Given the description of an element on the screen output the (x, y) to click on. 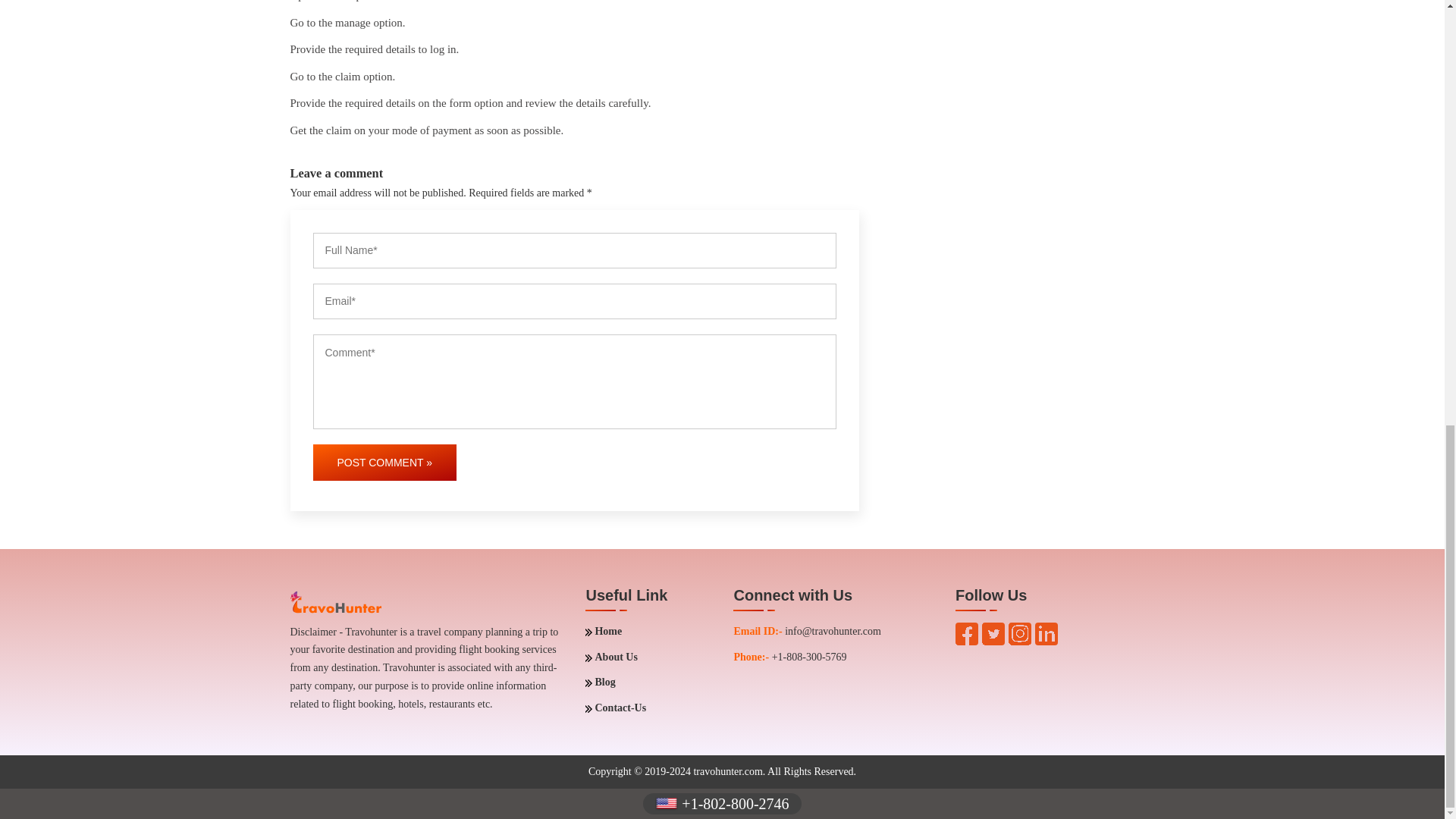
Contact-Us (615, 708)
About Us (611, 657)
Home (603, 631)
travohunter.com (727, 771)
Blog (599, 682)
